Given the description of an element on the screen output the (x, y) to click on. 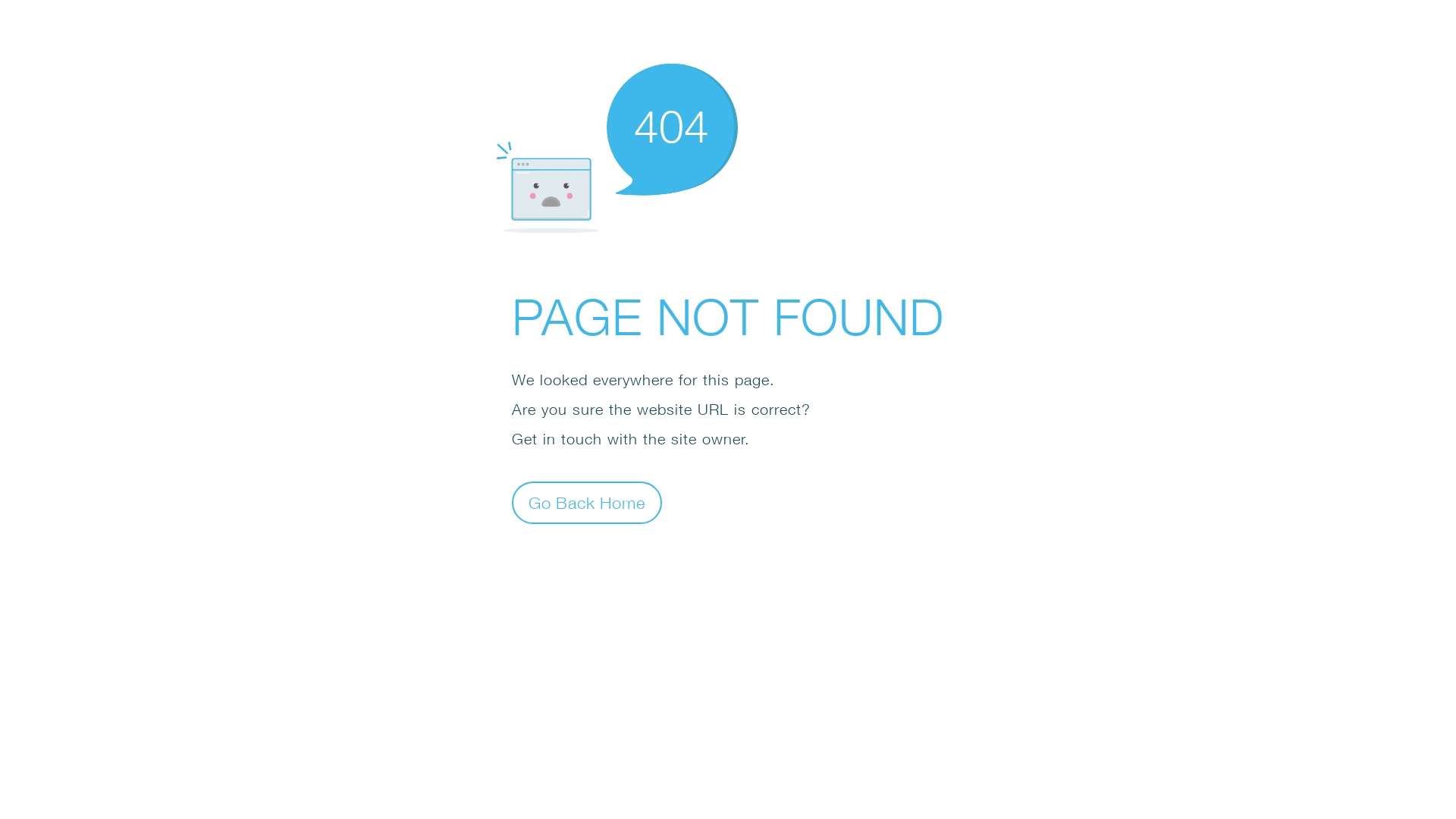
Go Back Home Element type: text (586, 502)
